Given the description of an element on the screen output the (x, y) to click on. 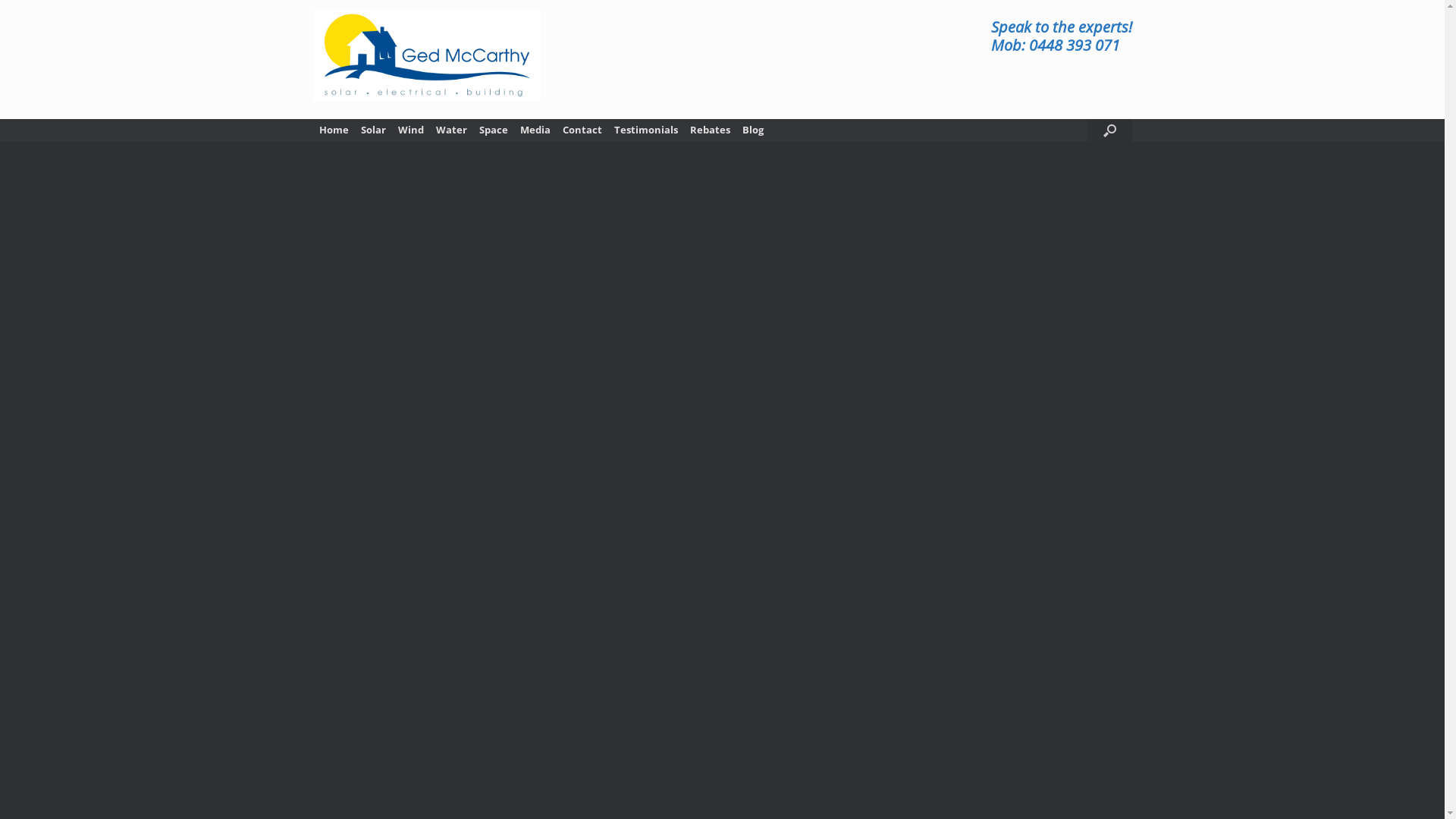
Ged McCarthy Element type: hover (425, 55)
Wind Element type: text (410, 130)
Media Element type: text (535, 130)
Water Element type: text (450, 130)
Solar Element type: text (373, 130)
Contact Element type: text (582, 130)
Home Element type: text (333, 130)
Blog Element type: text (751, 130)
Space Element type: text (493, 130)
Rebates Element type: text (710, 130)
Testimonials Element type: text (646, 130)
